Given the description of an element on the screen output the (x, y) to click on. 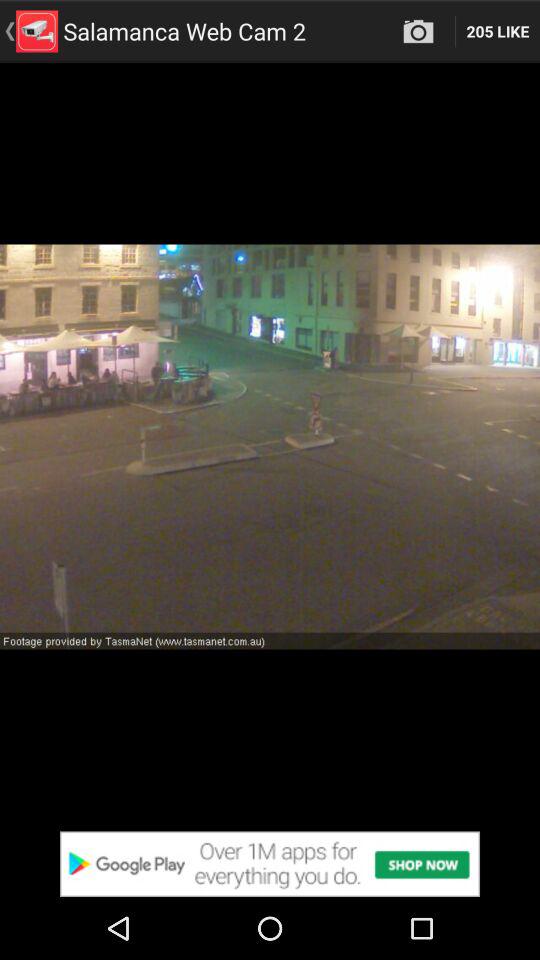
advertising link (270, 864)
